Given the description of an element on the screen output the (x, y) to click on. 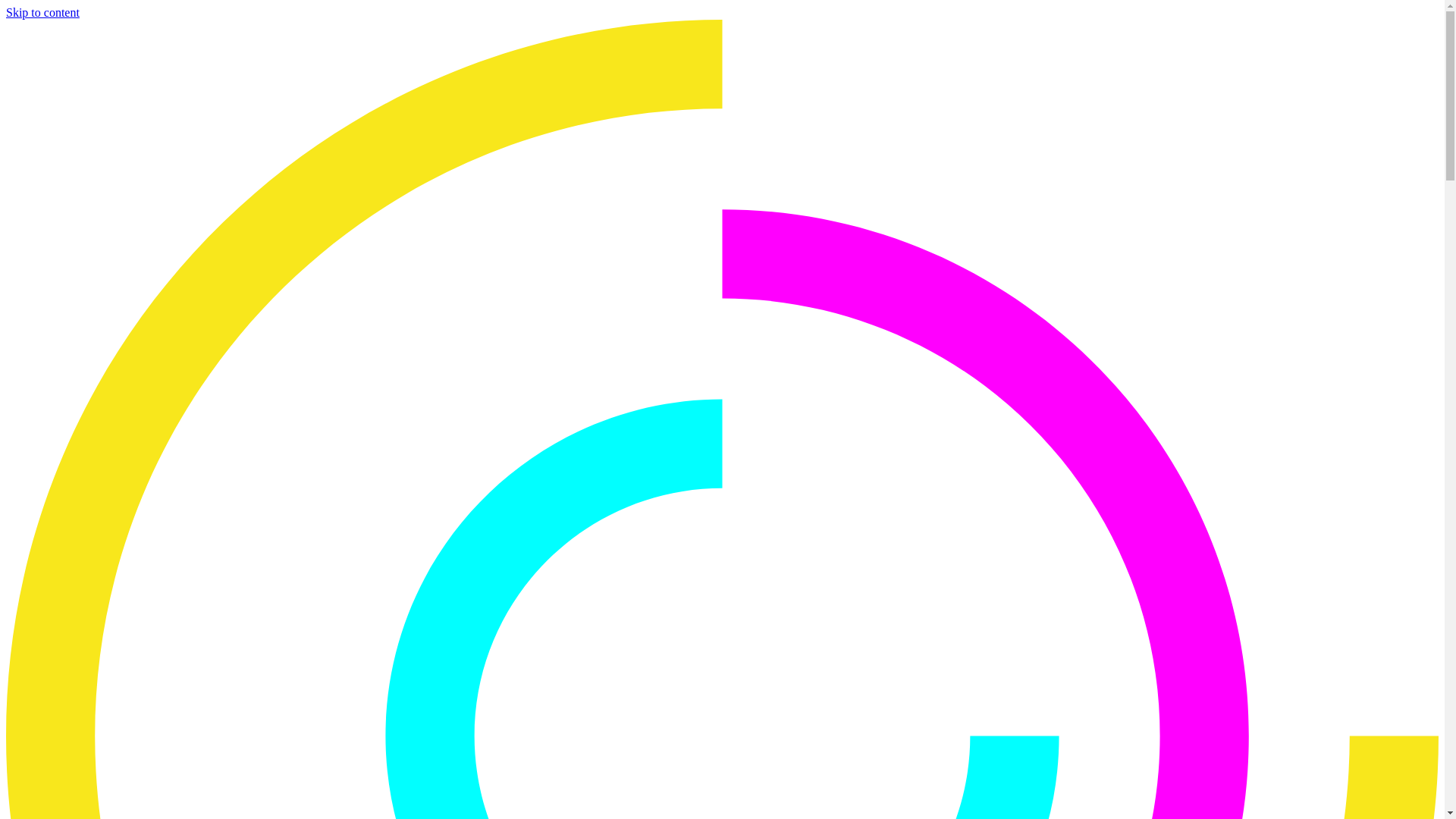
Skip to content (42, 11)
